Given the description of an element on the screen output the (x, y) to click on. 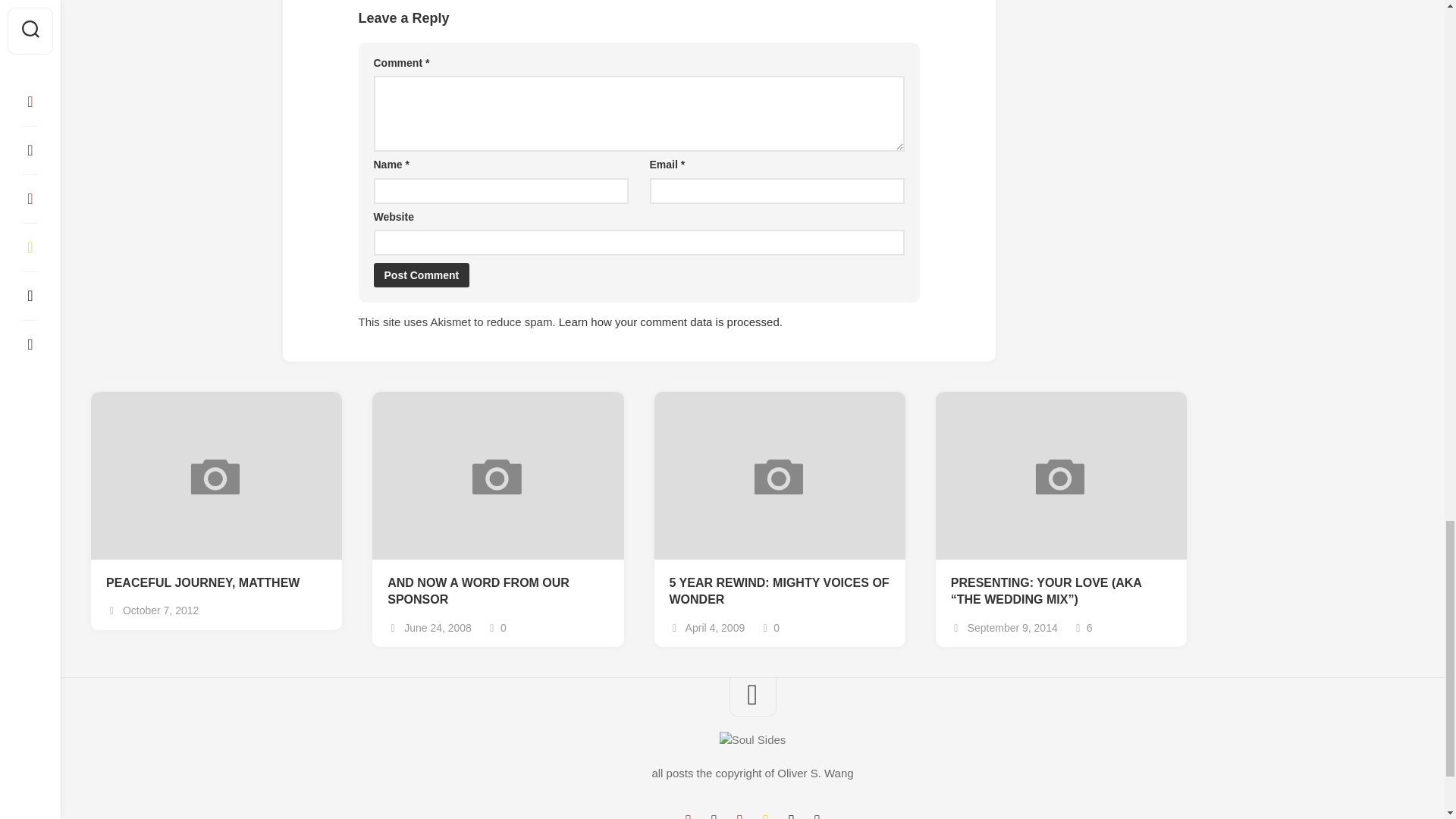
PEACEFUL JOURNEY, MATTHEW (216, 583)
summer songs (765, 816)
Post Comment (420, 274)
Post Comment (420, 274)
0 (496, 627)
6 (1083, 627)
discogs store (816, 816)
instagram (739, 816)
5 YEAR REWIND: MIGHTY VOICES OF WONDER (778, 591)
publication portfolio (791, 816)
